Given the description of an element on the screen output the (x, y) to click on. 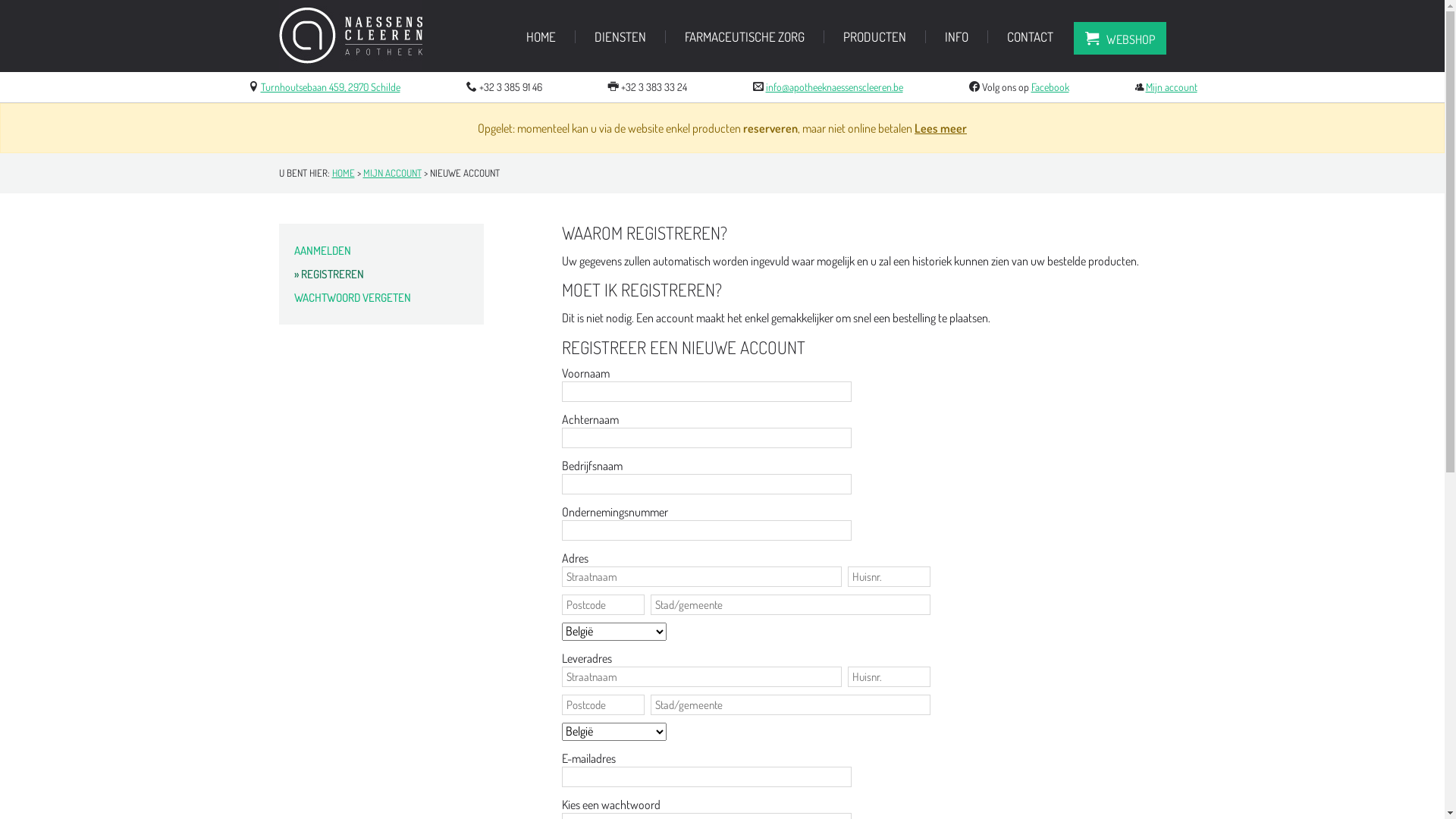
Turnhoutsebaan 459, 2970 Schilde Element type: text (330, 86)
Huisnr. Element type: hover (888, 676)
INFO Element type: text (956, 36)
Stad/gemeente Element type: hover (790, 604)
AANMELDEN Element type: text (381, 250)
Apotheek Naessens-Cleeren Element type: hover (350, 65)
Facebook Element type: text (1050, 86)
HOME Element type: text (540, 36)
Straatnaam Element type: hover (700, 676)
HOME Element type: text (343, 172)
Postcode Element type: hover (602, 704)
REGISTREREN Element type: text (381, 273)
MIJN ACCOUNT Element type: text (391, 172)
FARMACEUTISCHE ZORG Element type: text (743, 36)
Postcode Element type: hover (602, 604)
WEBSHOP Element type: text (1119, 37)
PRODUCTEN Element type: text (874, 36)
Stad/gemeente Element type: hover (790, 704)
Lees meer Element type: text (940, 127)
Mijn account Element type: text (1170, 86)
Huisnr. Element type: hover (888, 576)
WACHTWOORD VERGETEN Element type: text (381, 297)
DIENSTEN Element type: text (620, 36)
info@apotheeknaessenscleeren.be Element type: text (834, 86)
CONTACT Element type: text (1030, 36)
Straatnaam Element type: hover (700, 576)
